Given the description of an element on the screen output the (x, y) to click on. 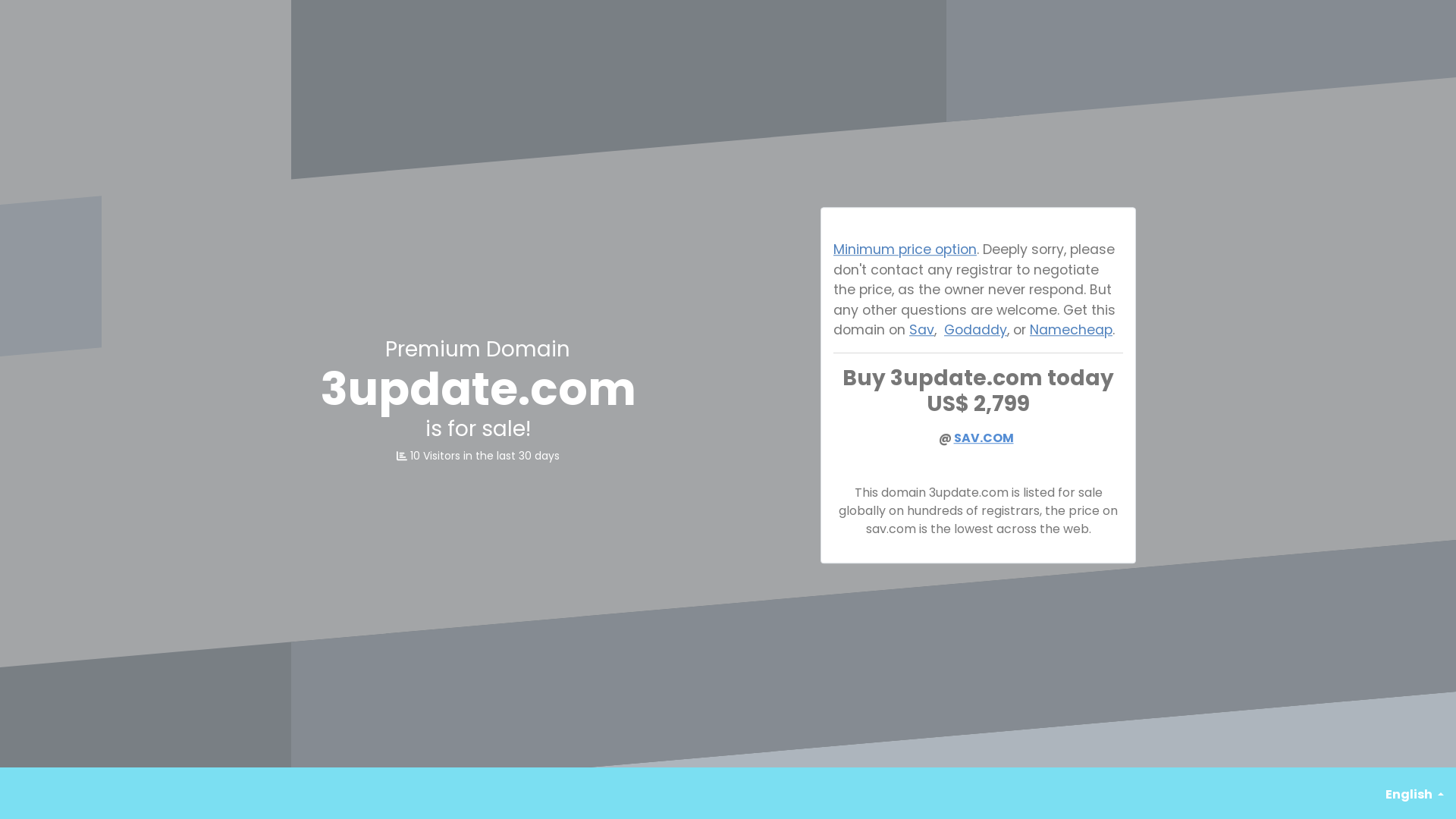
Sav Element type: text (921, 329)
Godaddy Element type: text (975, 329)
English Element type: text (1414, 794)
SAV.COM Element type: text (983, 437)
Minimum price option Element type: text (904, 250)
Namecheap Element type: text (1070, 329)
